Given the description of an element on the screen output the (x, y) to click on. 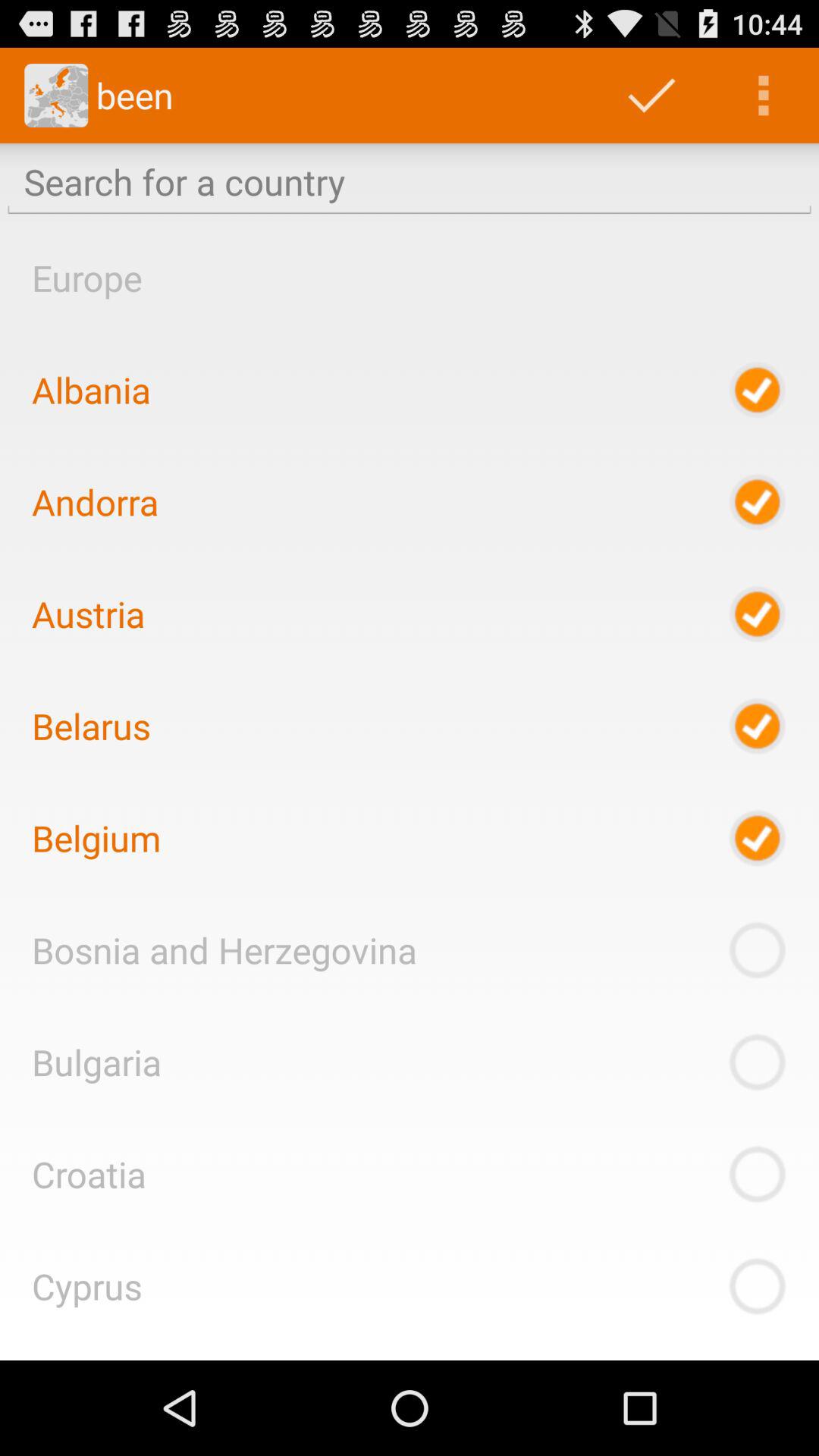
swipe to belarus item (90, 725)
